Given the description of an element on the screen output the (x, y) to click on. 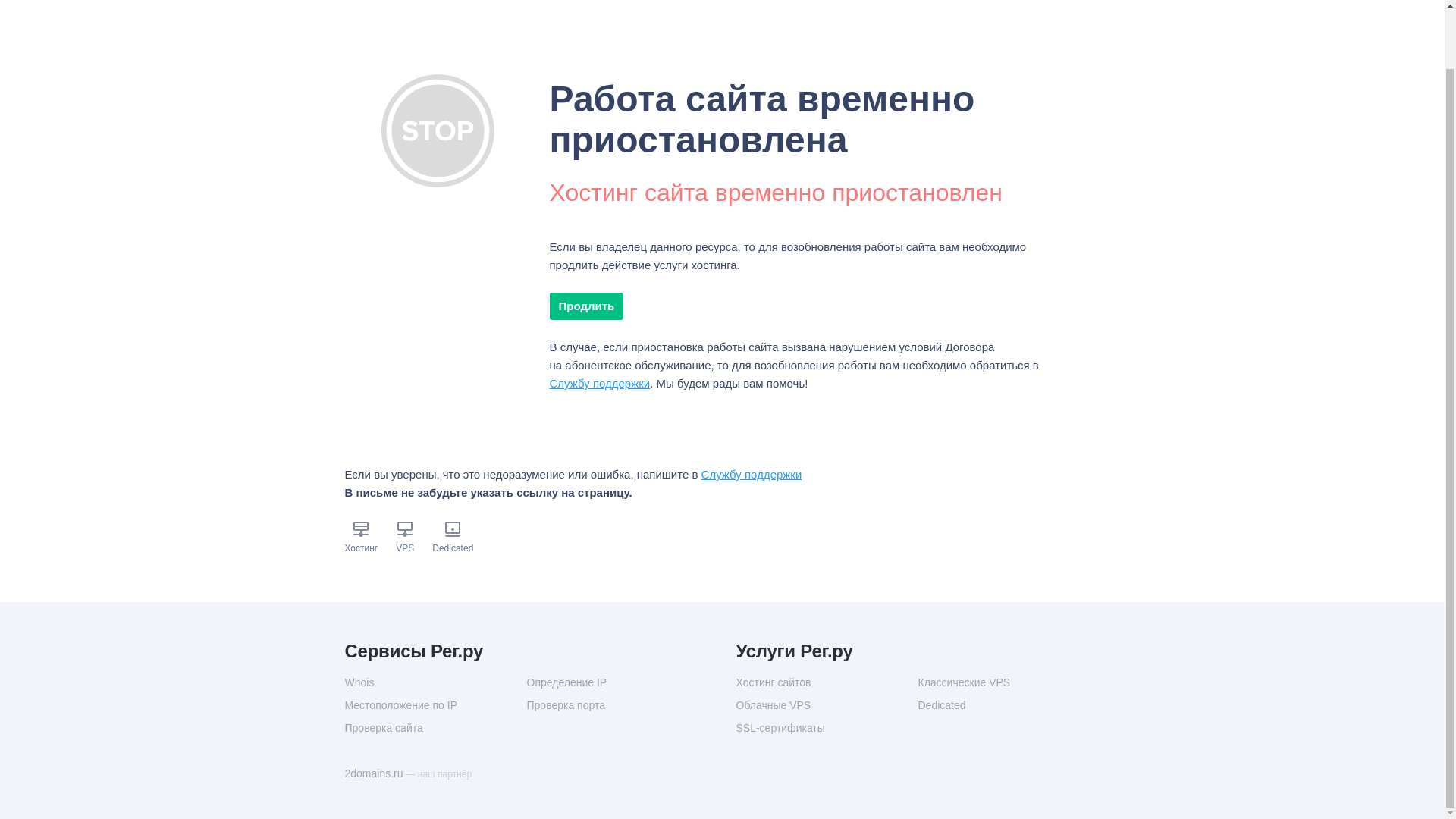
Whois (434, 682)
VPS (404, 547)
2domains.ru (374, 773)
Dedicated (1008, 705)
